Given the description of an element on the screen output the (x, y) to click on. 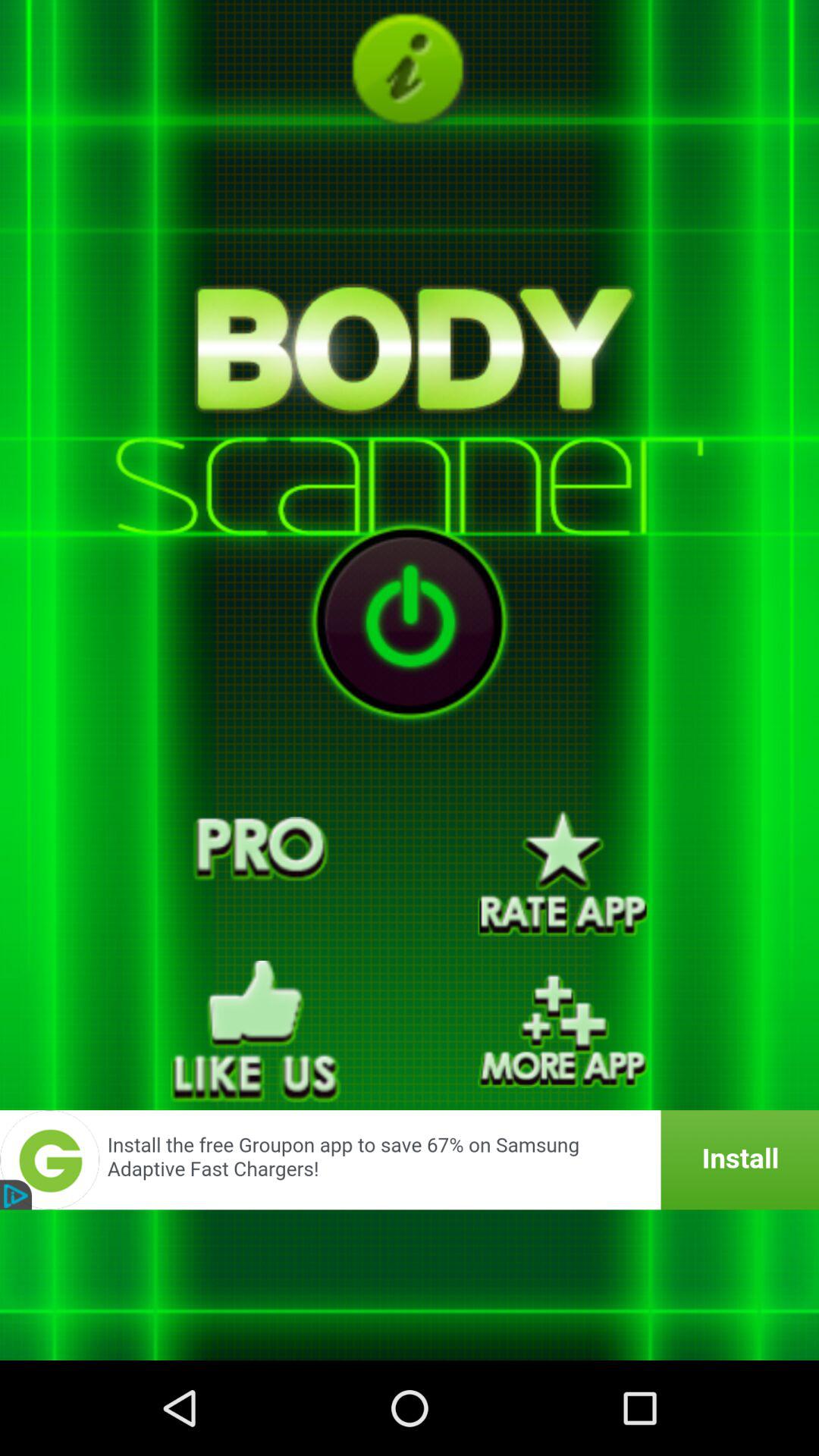
start scanning (409, 621)
